Given the description of an element on the screen output the (x, y) to click on. 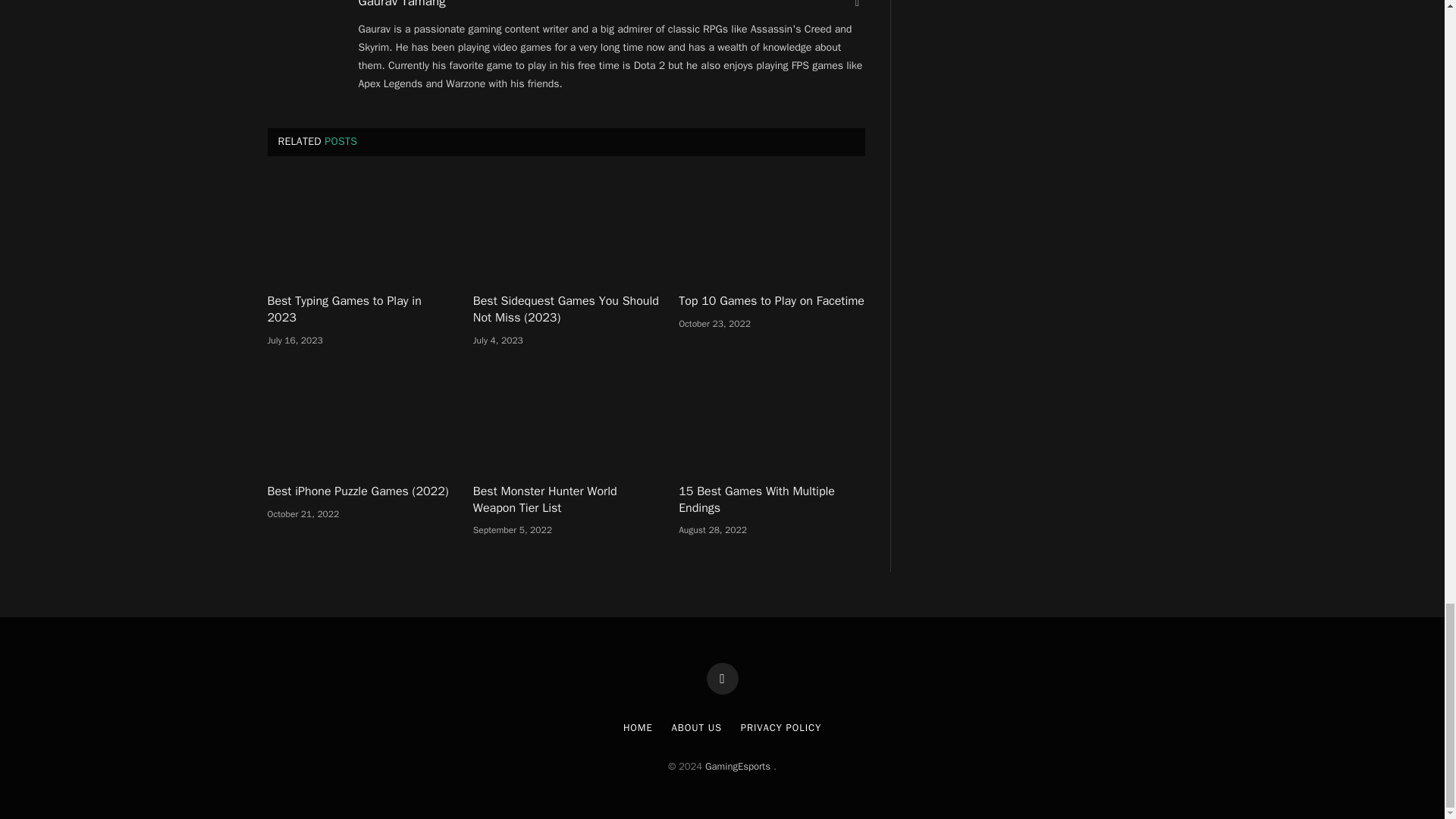
Top 10 Games to Play on Facetime (771, 229)
Gaurav Tamang (401, 4)
Best Typing Games to Play in 2023 (359, 229)
Best Monster Hunter World Weapon Tier List (566, 418)
LinkedIn (856, 5)
Posts by Gaurav Tamang (401, 4)
